Given the description of an element on the screen output the (x, y) to click on. 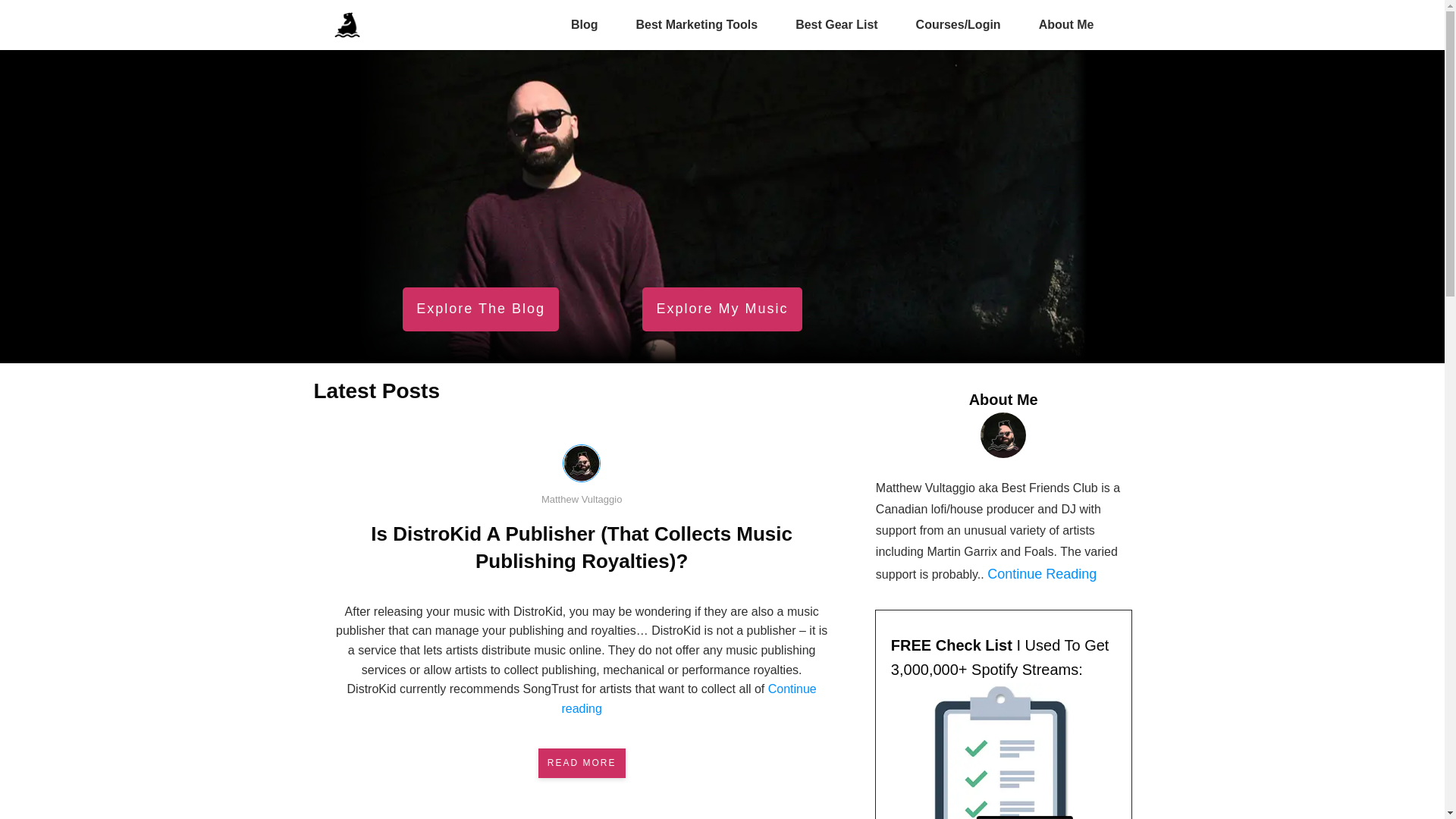
Explore The Blog Element type: text (480, 309)
About Me Element type: text (1066, 24)
Courses/Login Element type: text (958, 24)
Continue reading Element type: text (688, 698)
READ MORE Element type: text (581, 762)
Continue Reading Element type: text (1041, 573)
bfc-avatar- Element type: hover (1003, 435)
Explore My Music Element type: text (721, 309)
Best Marketing Tools Element type: text (696, 24)
Blog Element type: text (584, 24)
Best Gear List Element type: text (836, 24)
